Given the description of an element on the screen output the (x, y) to click on. 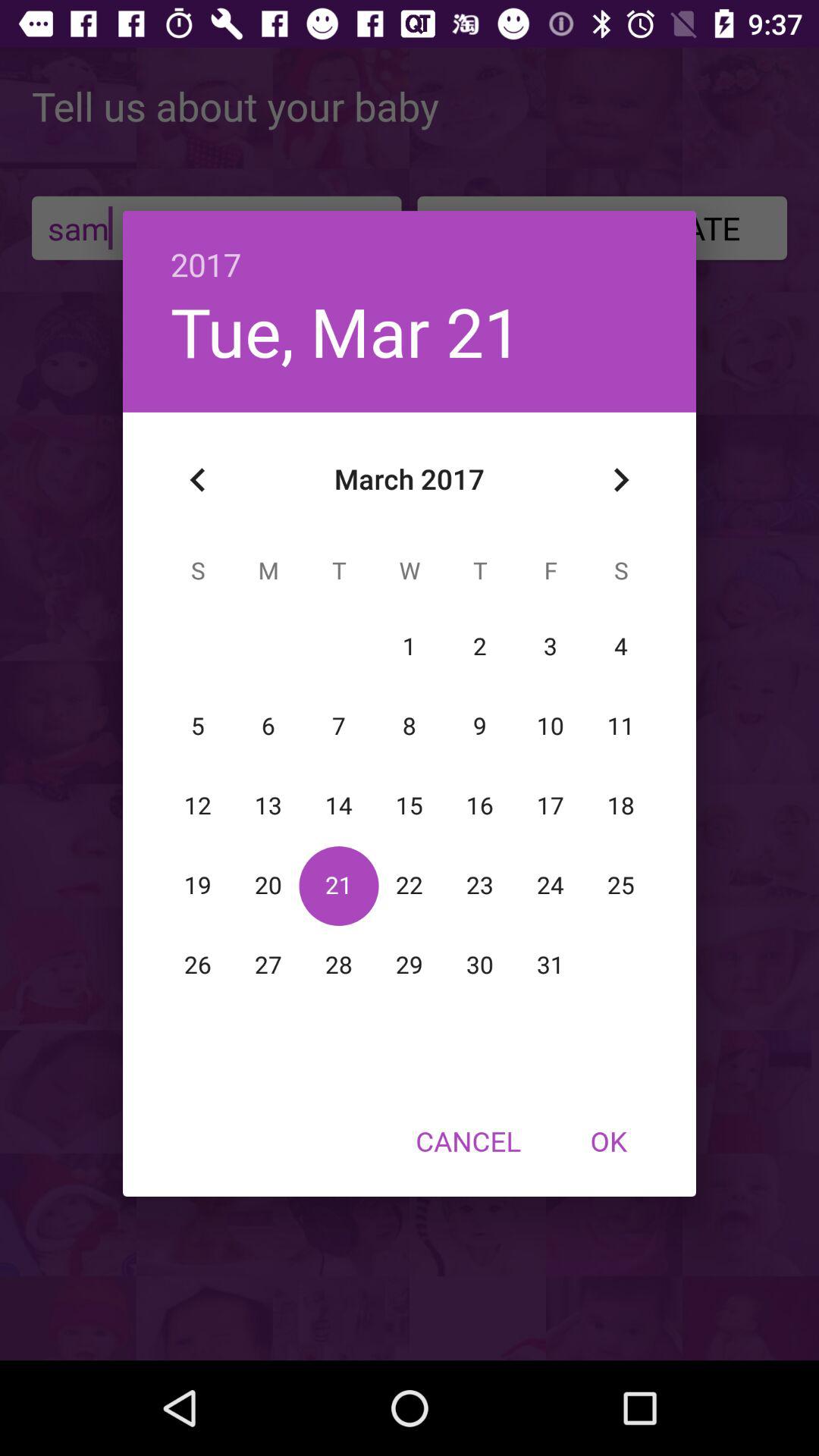
swipe until the ok item (608, 1140)
